Given the description of an element on the screen output the (x, y) to click on. 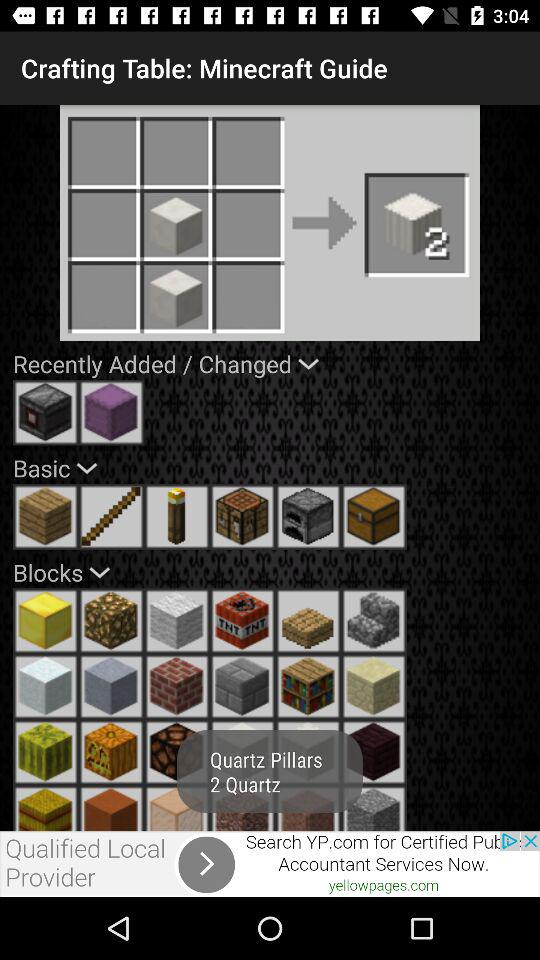
choose option (45, 412)
